Given the description of an element on the screen output the (x, y) to click on. 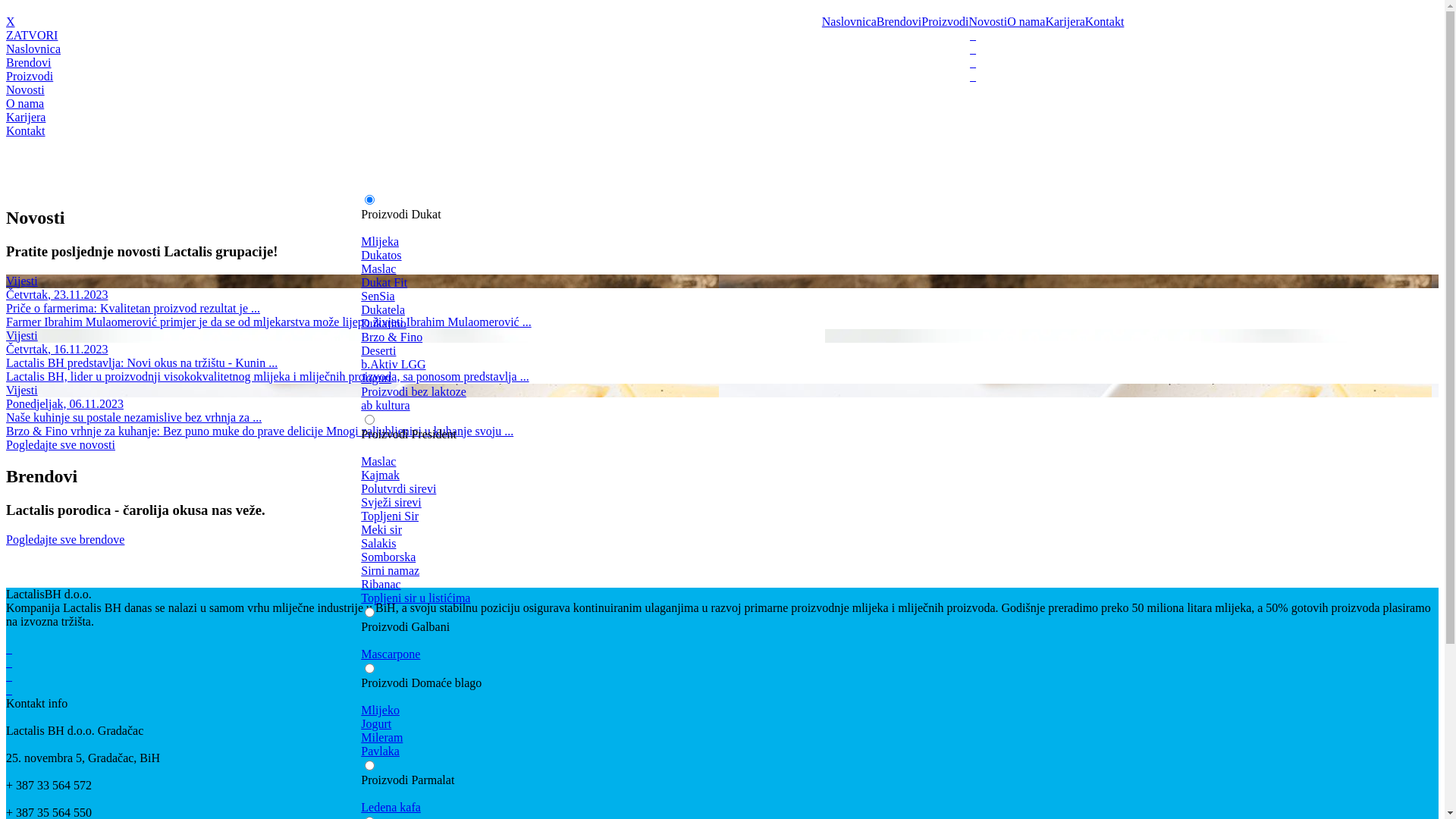
   Element type: text (9, 661)
Dukat Fit Element type: text (701, 282)
   Element type: text (972, 48)
Brzo & Fino Element type: text (701, 337)
Polutvrdi sirevi Element type: text (701, 488)
Karijera Element type: text (1064, 21)
Jogurt Element type: text (701, 378)
Jogurt Element type: text (701, 724)
SenSia Element type: text (701, 296)
O nama Element type: text (722, 103)
b.Aktiv LGG Element type: text (701, 364)
Ledena kafa Element type: text (701, 807)
Pogledajte sve novosti Element type: text (722, 444)
Proizvodi Element type: text (944, 21)
Kontakt Element type: text (1104, 21)
Mascarpone Element type: text (701, 654)
O nama Element type: text (1025, 21)
Novosti Element type: text (722, 90)
   Element type: text (9, 648)
Kontakt Element type: text (722, 137)
Topljeni Sir Element type: text (701, 516)
Deserti Element type: text (701, 350)
Somborska Element type: text (701, 557)
   Element type: text (972, 62)
Pogledajte sve brendove Element type: text (722, 539)
Maslac Element type: text (701, 269)
Maslac Element type: text (701, 461)
Dukatos Element type: text (701, 255)
Kajmak Element type: text (701, 475)
Brendovi Element type: text (899, 21)
Brendovi Element type: text (722, 62)
Proizvodi bez laktoze Element type: text (701, 391)
   Element type: text (972, 34)
   Element type: text (972, 75)
Mlijeka Element type: text (701, 241)
   Element type: text (9, 675)
   Element type: text (9, 689)
Novosti Element type: text (988, 21)
Dukatino Element type: text (701, 323)
X
ZATVORI Element type: text (722, 28)
Mileram Element type: text (701, 737)
Sirni namaz Element type: text (701, 570)
Karijera Element type: text (722, 117)
Naslovnica Element type: text (849, 21)
Pavlaka Element type: text (701, 751)
Mlijeko Element type: text (701, 710)
Ribanac Element type: text (701, 584)
Meki sir Element type: text (701, 529)
Dukatela Element type: text (701, 309)
Salakis Element type: text (701, 543)
Naslovnica Element type: text (722, 55)
ab kultura Element type: text (701, 405)
Proizvodi Element type: text (722, 76)
